Given the description of an element on the screen output the (x, y) to click on. 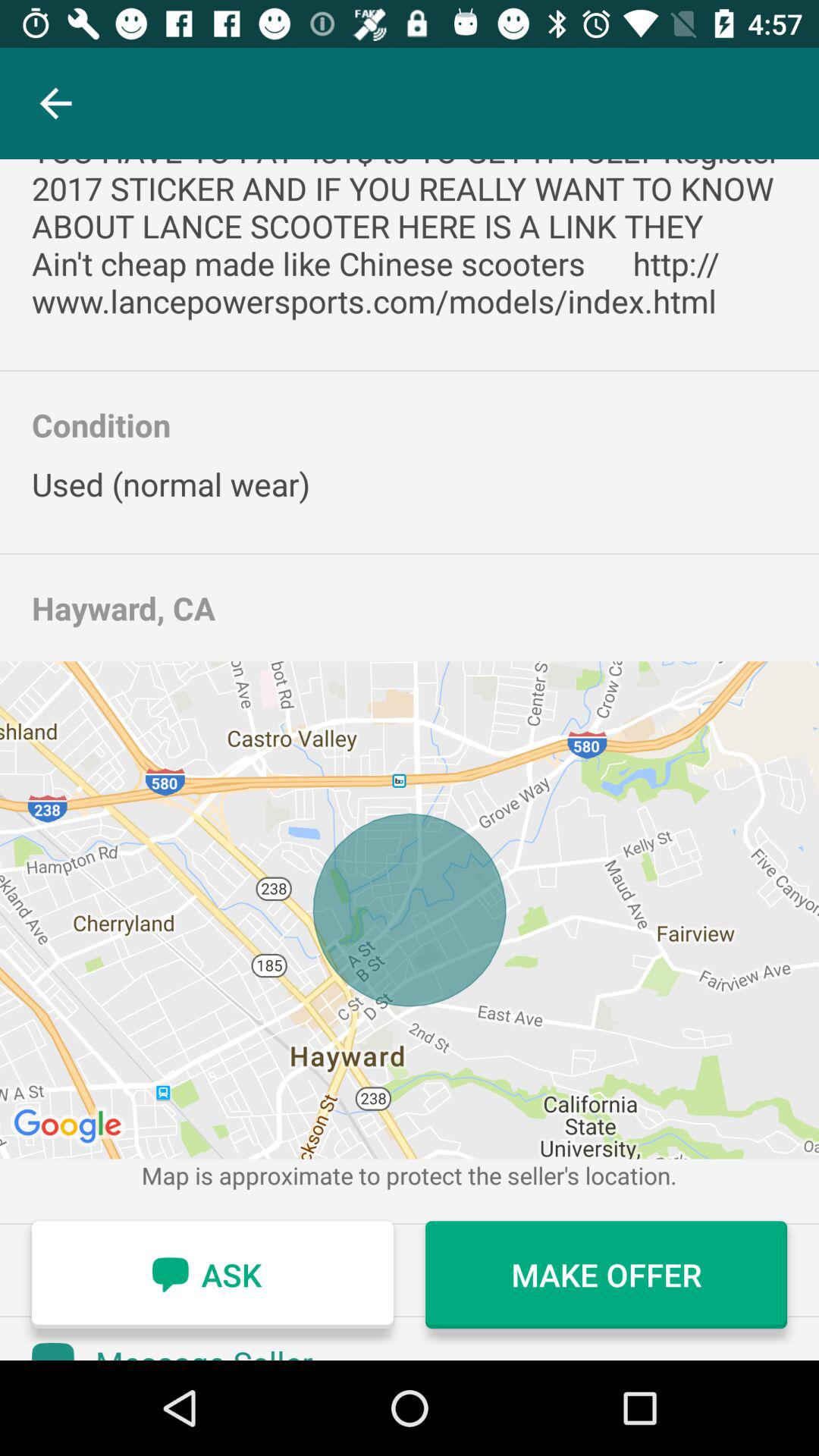
turn on item next to the make offer icon (212, 1274)
